Given the description of an element on the screen output the (x, y) to click on. 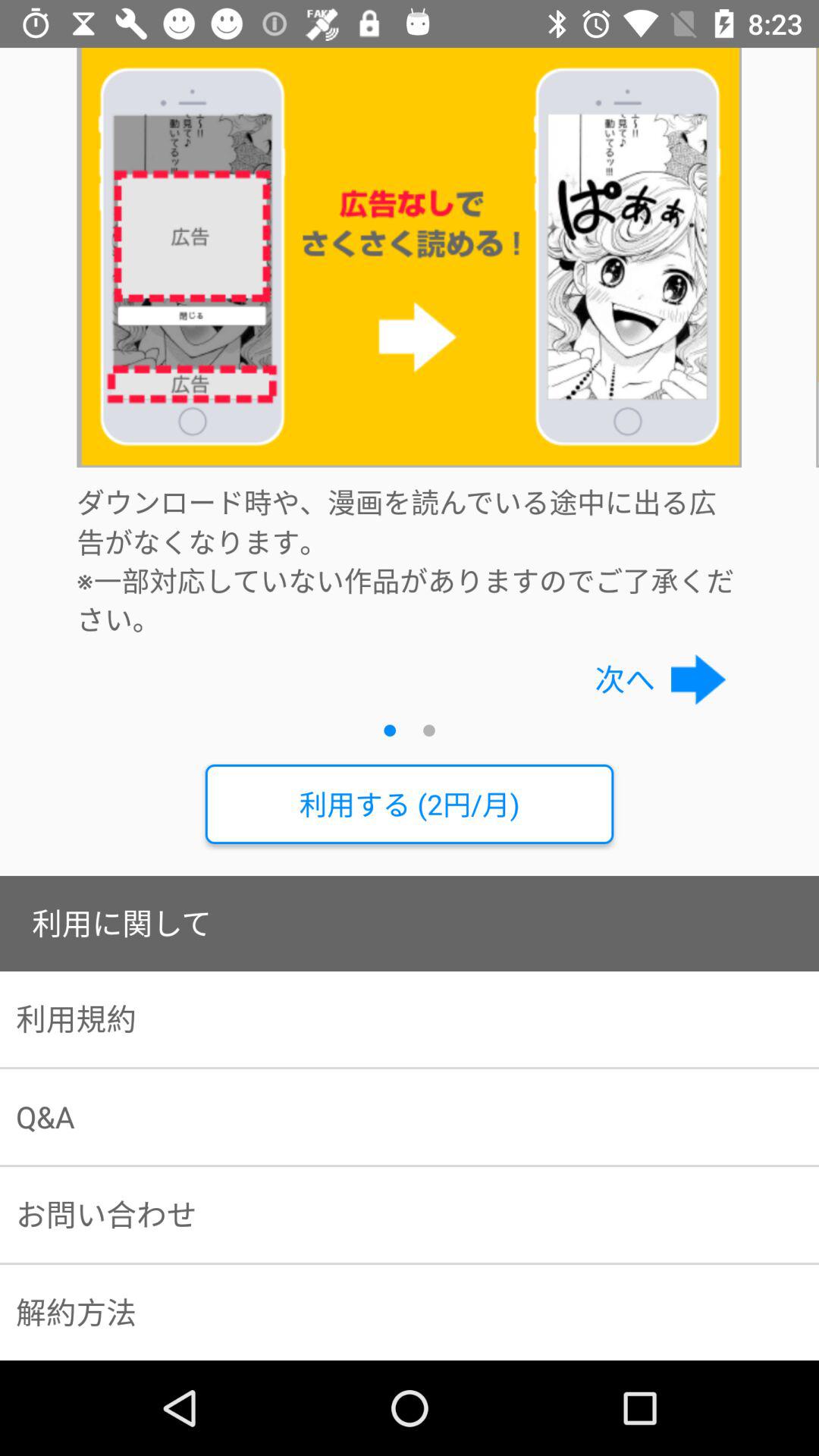
press q&a (409, 1116)
